Given the description of an element on the screen output the (x, y) to click on. 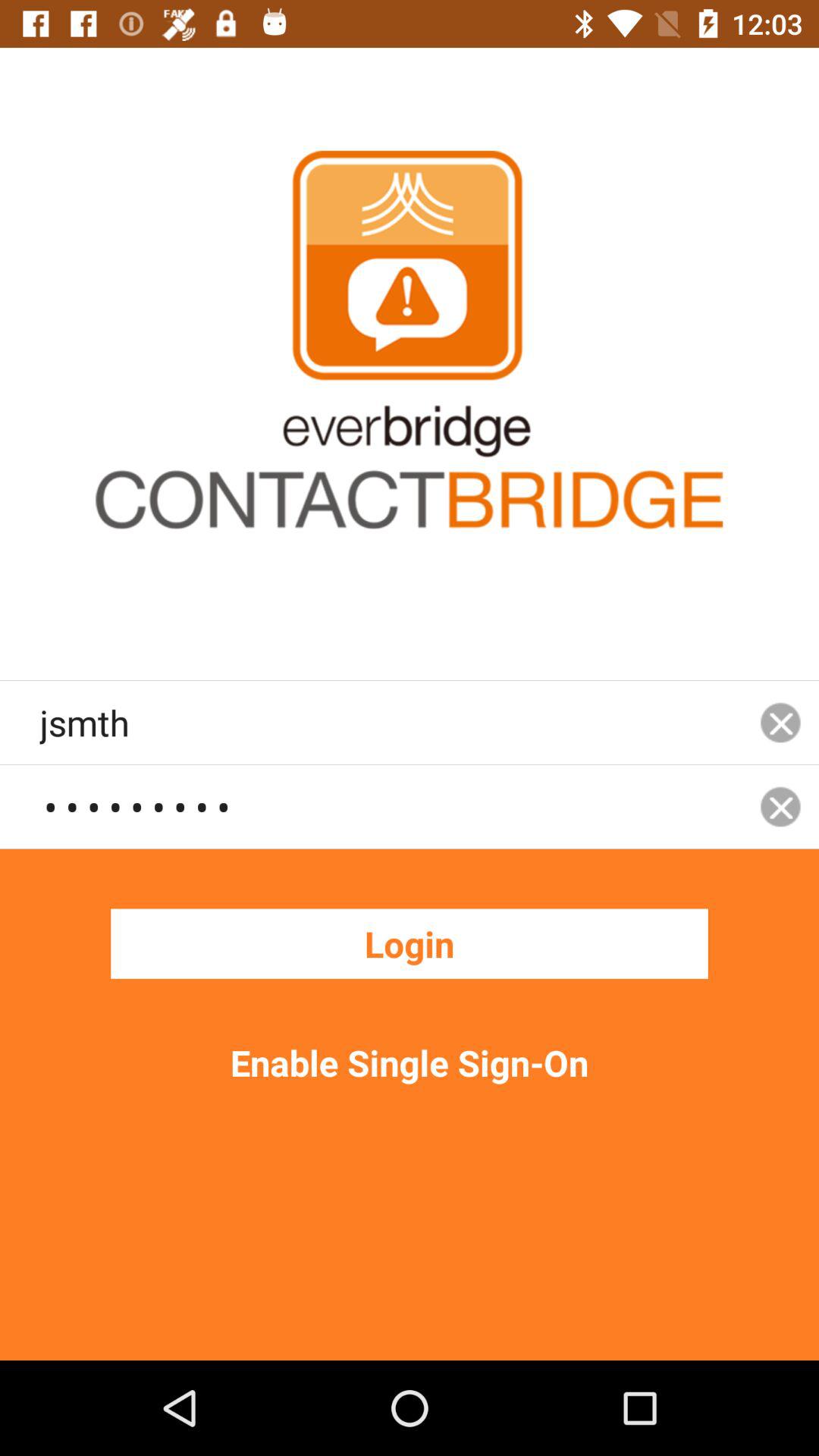
tap icon to the right of the jsmth icon (780, 722)
